Given the description of an element on the screen output the (x, y) to click on. 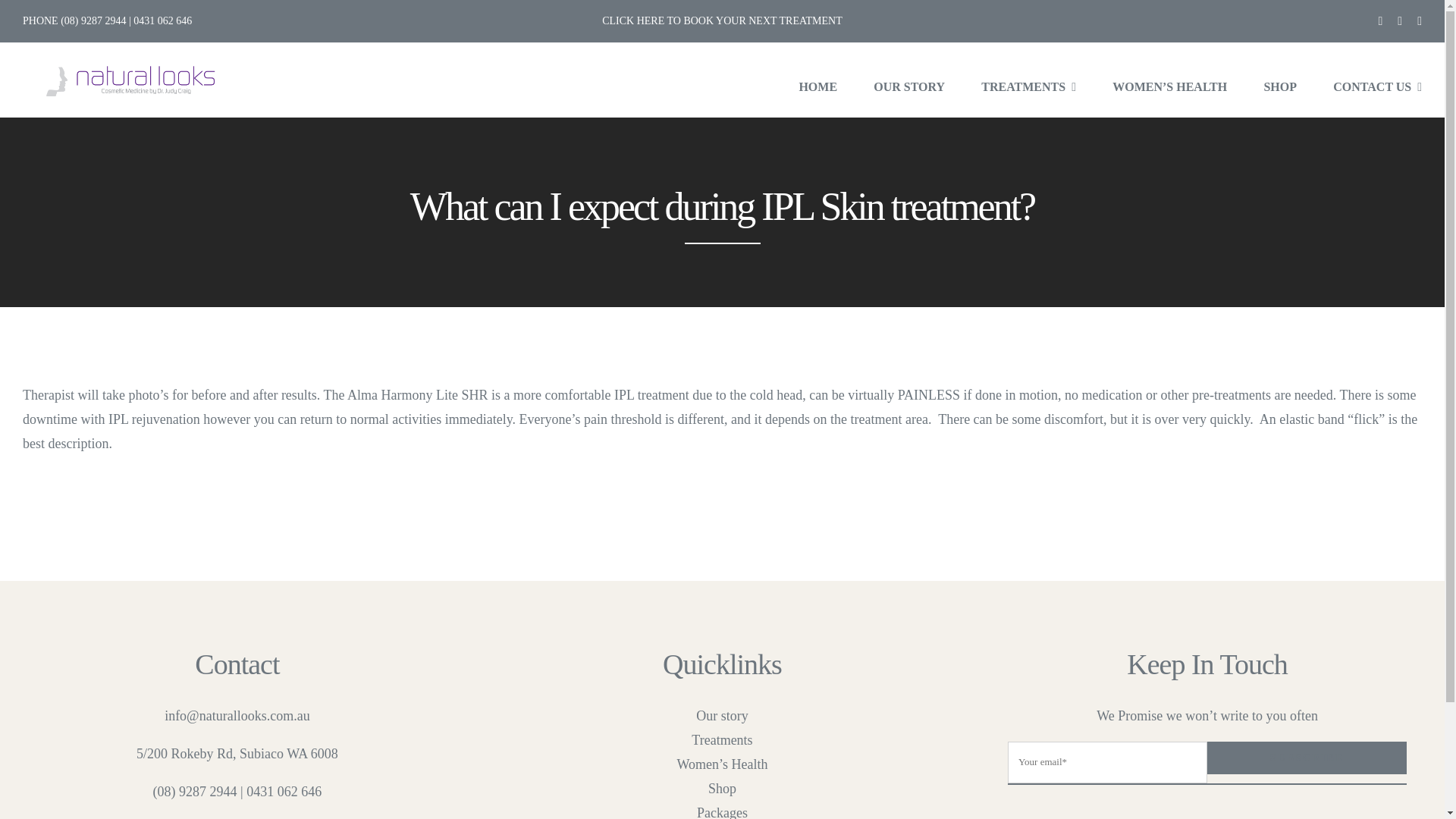
Our story (722, 715)
CONTACT US (1377, 87)
TREATMENTS (1028, 87)
SUBSCRIBE (1207, 763)
Packages (722, 809)
SHOP (1280, 87)
Treatments (722, 740)
CLICK HERE TO BOOK YOUR NEXT TREATMENT (722, 20)
HOME (817, 87)
0431 062 646 (283, 791)
